Given the description of an element on the screen output the (x, y) to click on. 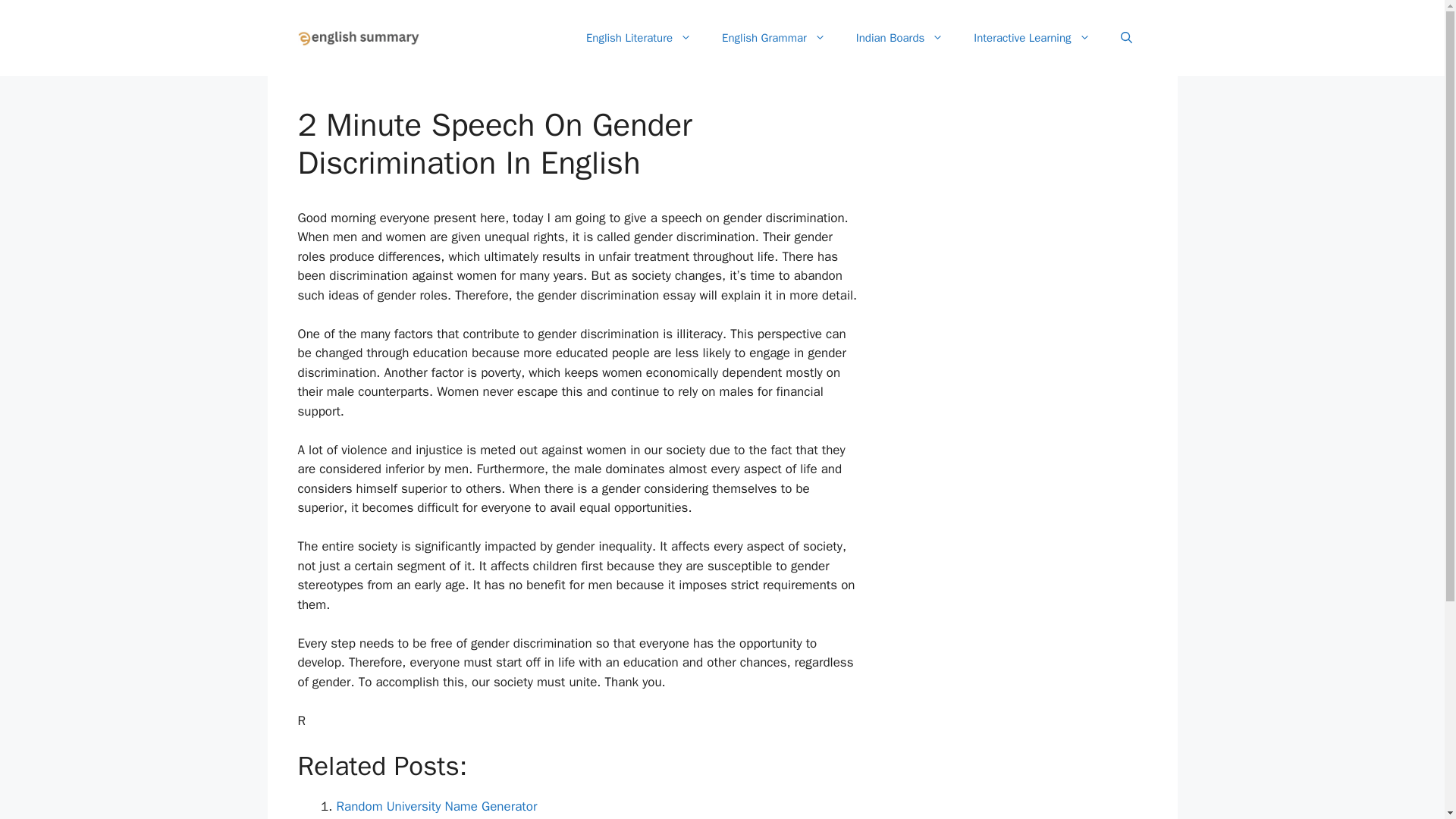
Interactive Learning (1031, 37)
Indian Boards (899, 37)
English Literature (638, 37)
English Grammar (773, 37)
